Given the description of an element on the screen output the (x, y) to click on. 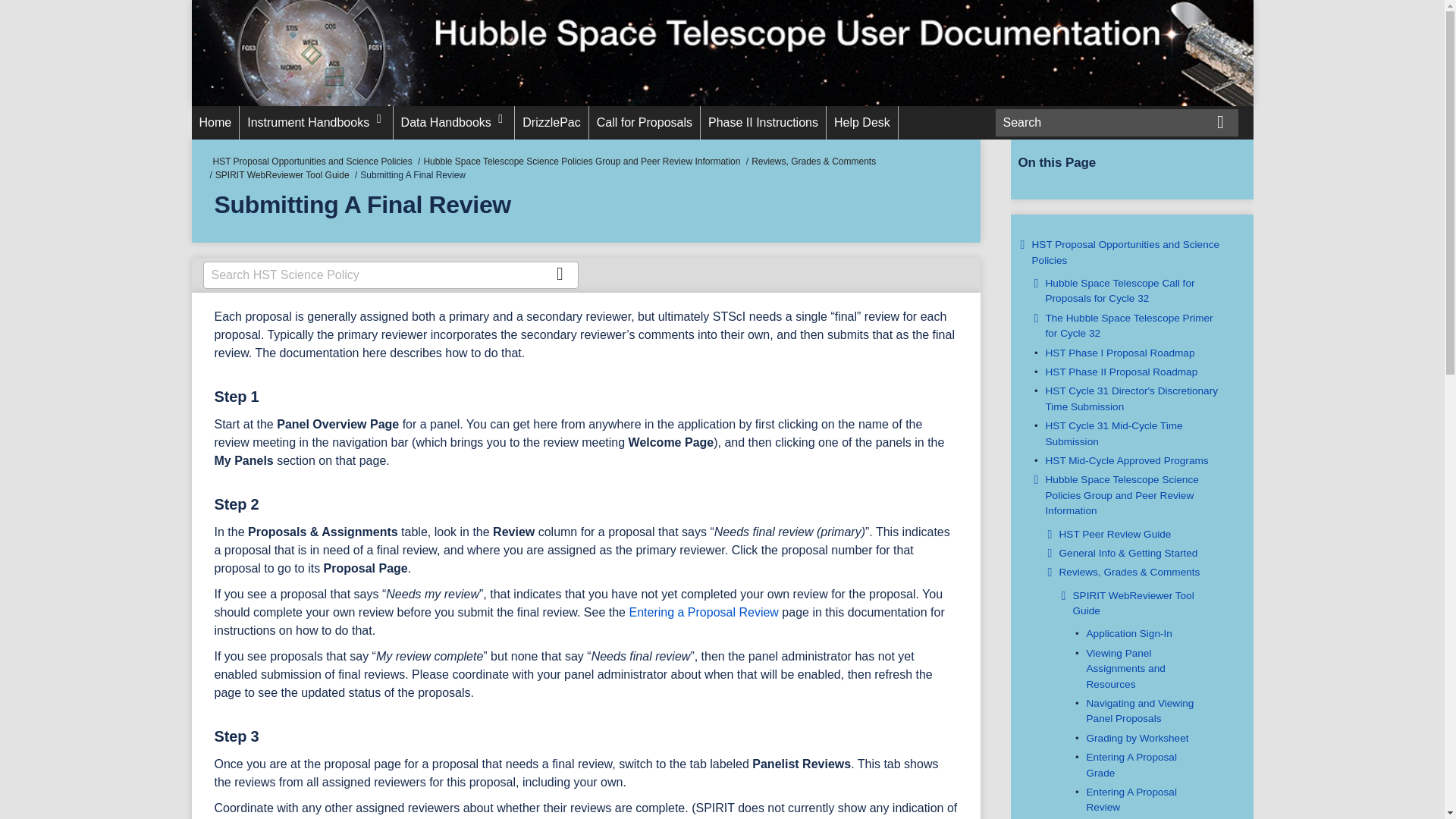
DrizzlePac (551, 122)
Search (1219, 119)
Search (560, 273)
Hubble Space Telescope Call for Proposals for Cycle 32 (1119, 290)
Home (214, 122)
Entering a Proposal Review (702, 612)
Help Desk (862, 122)
Phase II Instructions (762, 122)
HST Proposal Opportunities and Science Policies (312, 161)
SPIRIT WebReviewer Tool Guide (282, 174)
Call for Proposals (644, 122)
HST Proposal Opportunities and Science Policies (1125, 252)
